Given the description of an element on the screen output the (x, y) to click on. 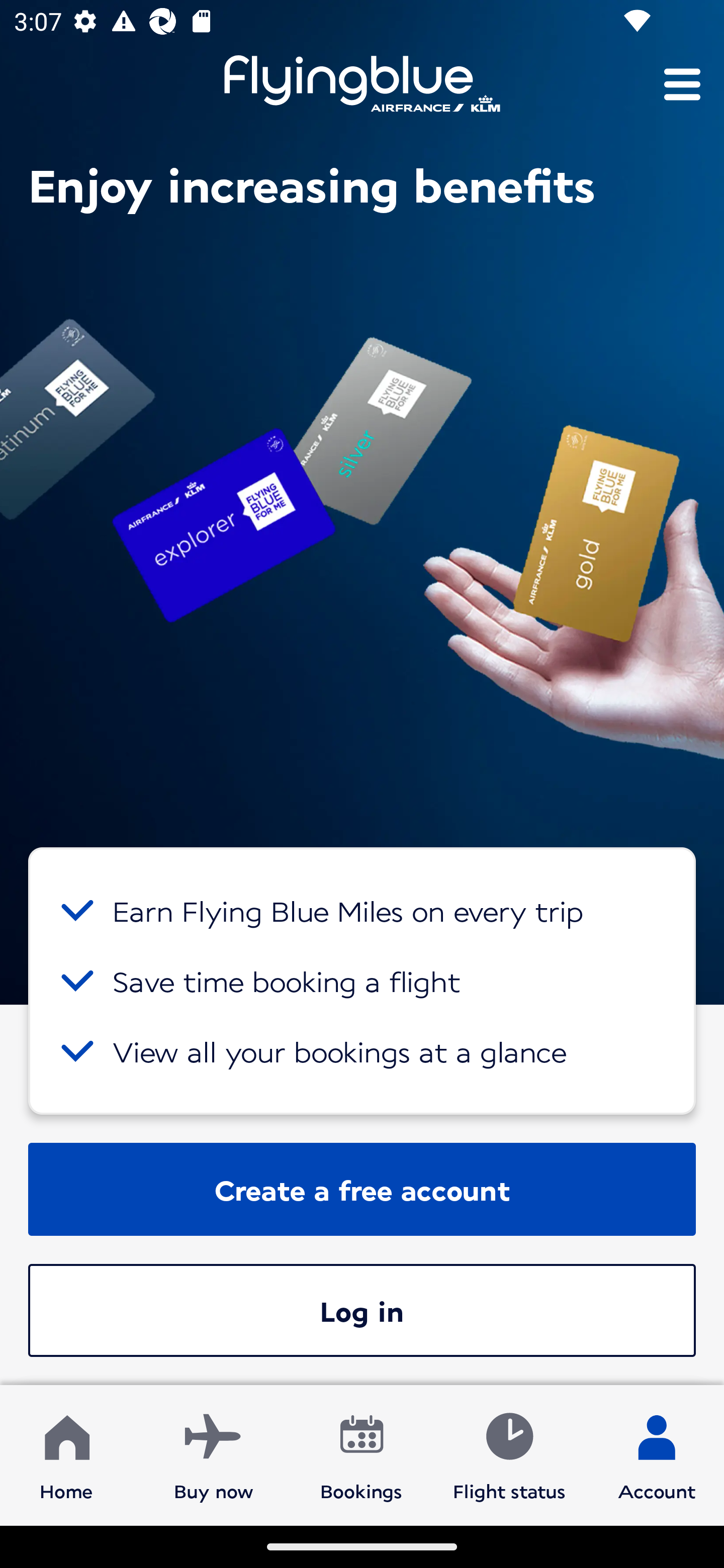
Create a free account (361, 1189)
Log in (361, 1309)
Home (66, 1454)
Buy now (213, 1454)
Bookings (361, 1454)
Flight status (509, 1454)
